Given the description of an element on the screen output the (x, y) to click on. 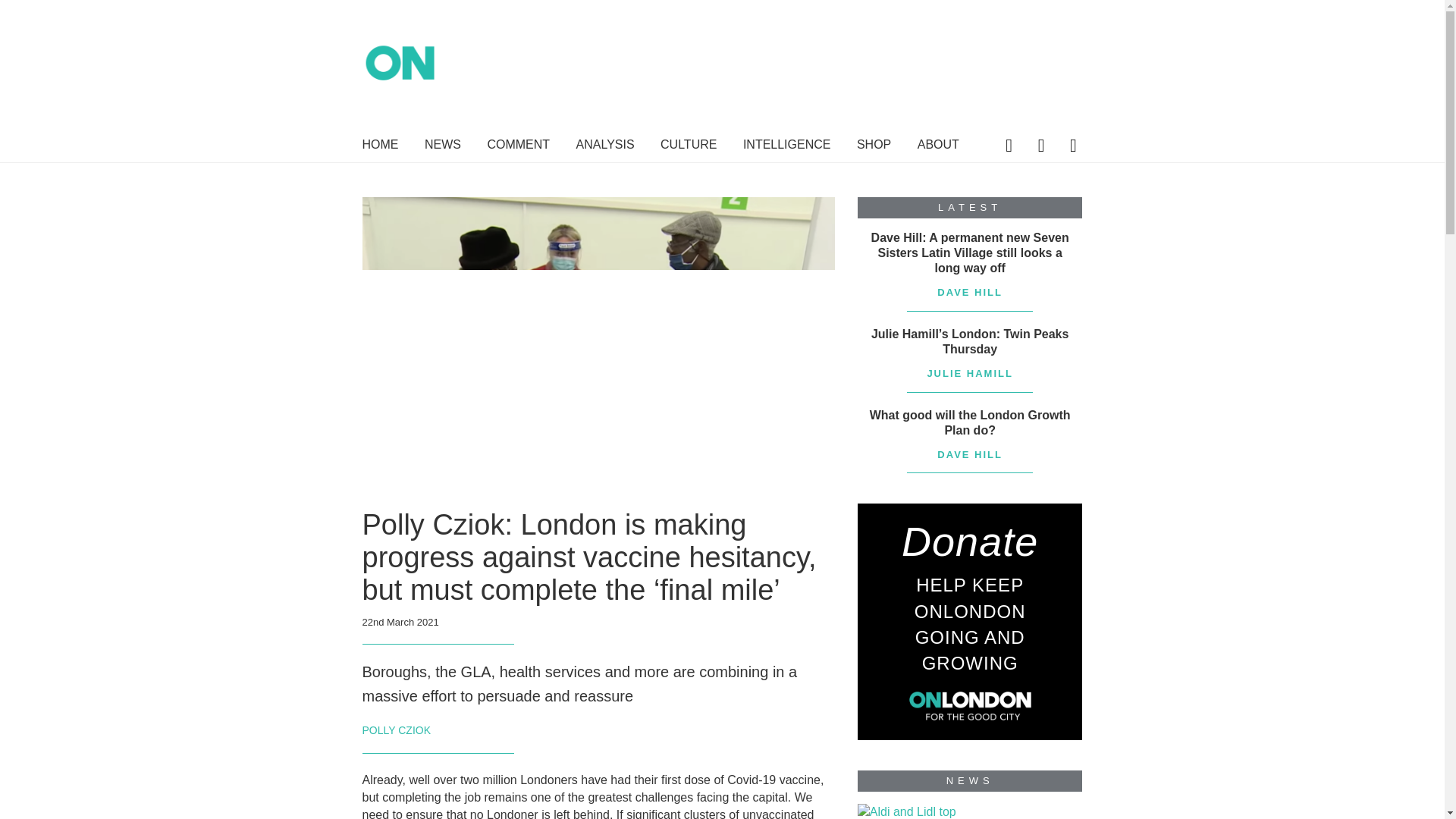
Aldi and Lidl top London supermarket pay rate league (907, 811)
NEWS (443, 147)
POLLY CZIOK (396, 729)
SHOP (874, 147)
CULTURE (688, 147)
OnLondon - For The Good City (498, 74)
HOME (380, 147)
ABOUT (938, 147)
ANALYSIS (605, 147)
INTELLIGENCE (786, 147)
